Given the description of an element on the screen output the (x, y) to click on. 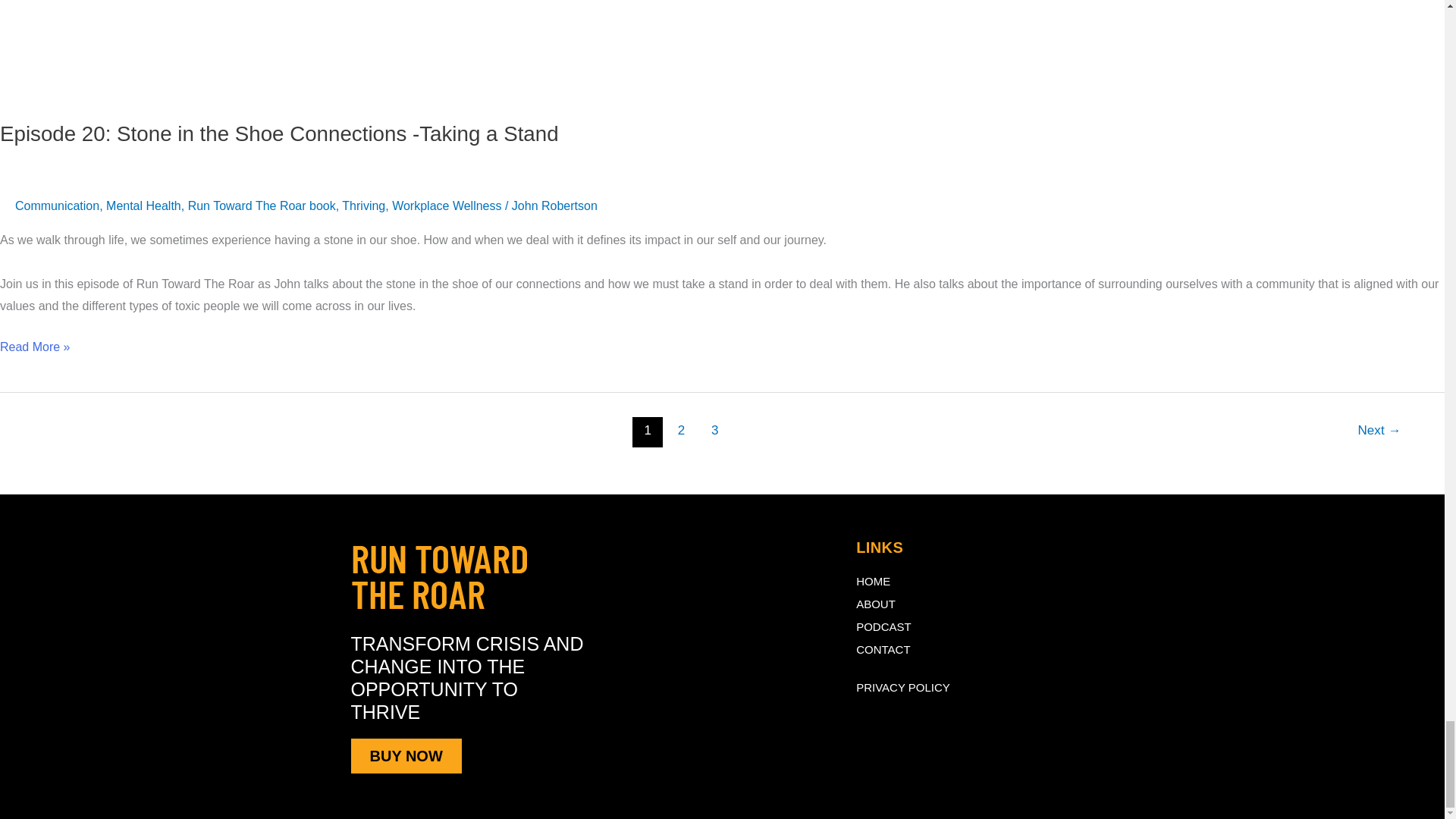
View all posts by John Robertson (554, 205)
